Given the description of an element on the screen output the (x, y) to click on. 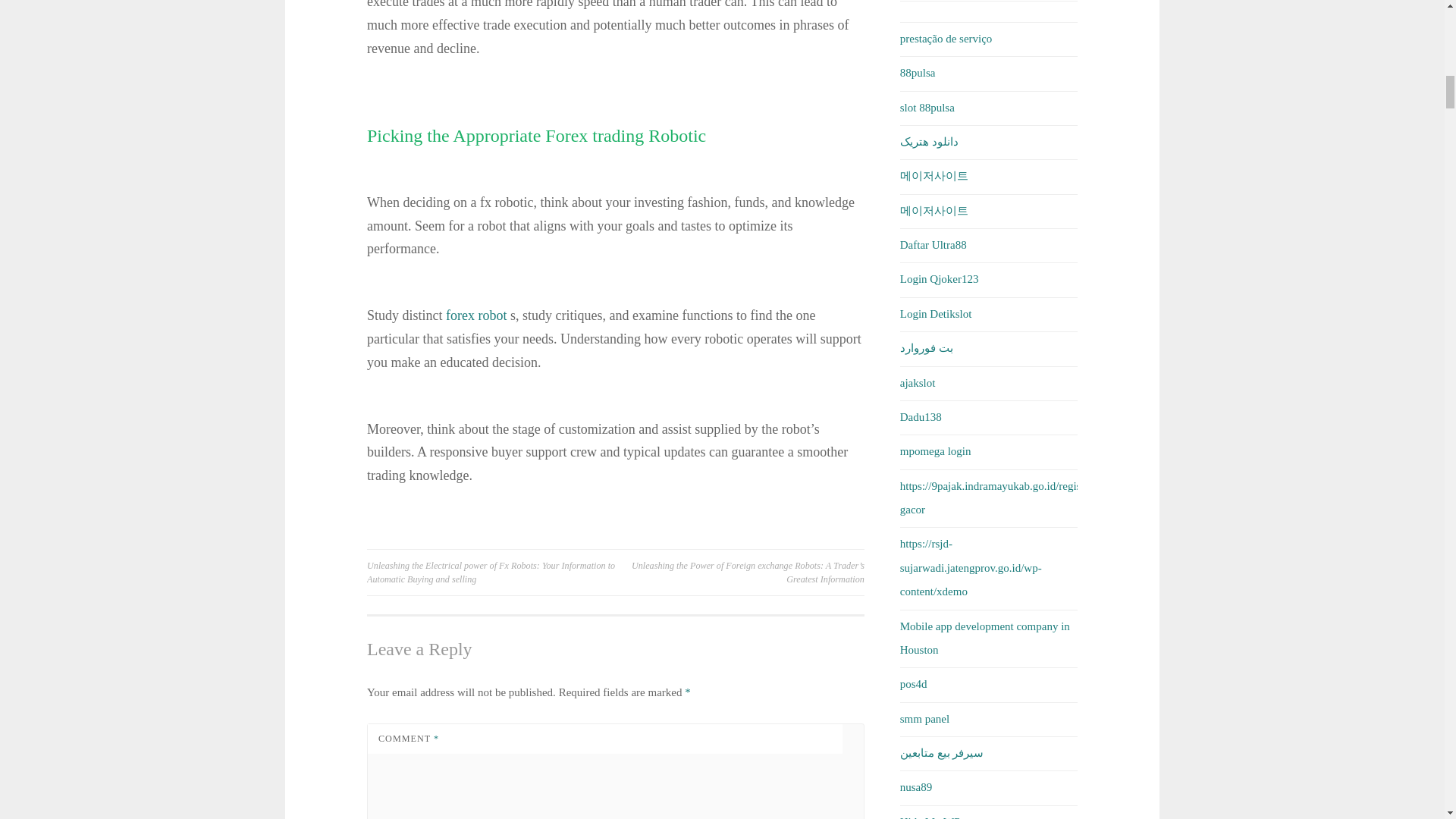
Daftar Ultra88 (932, 244)
88pulsa (917, 72)
slot 88pulsa (927, 107)
forex robot (475, 314)
